Given the description of an element on the screen output the (x, y) to click on. 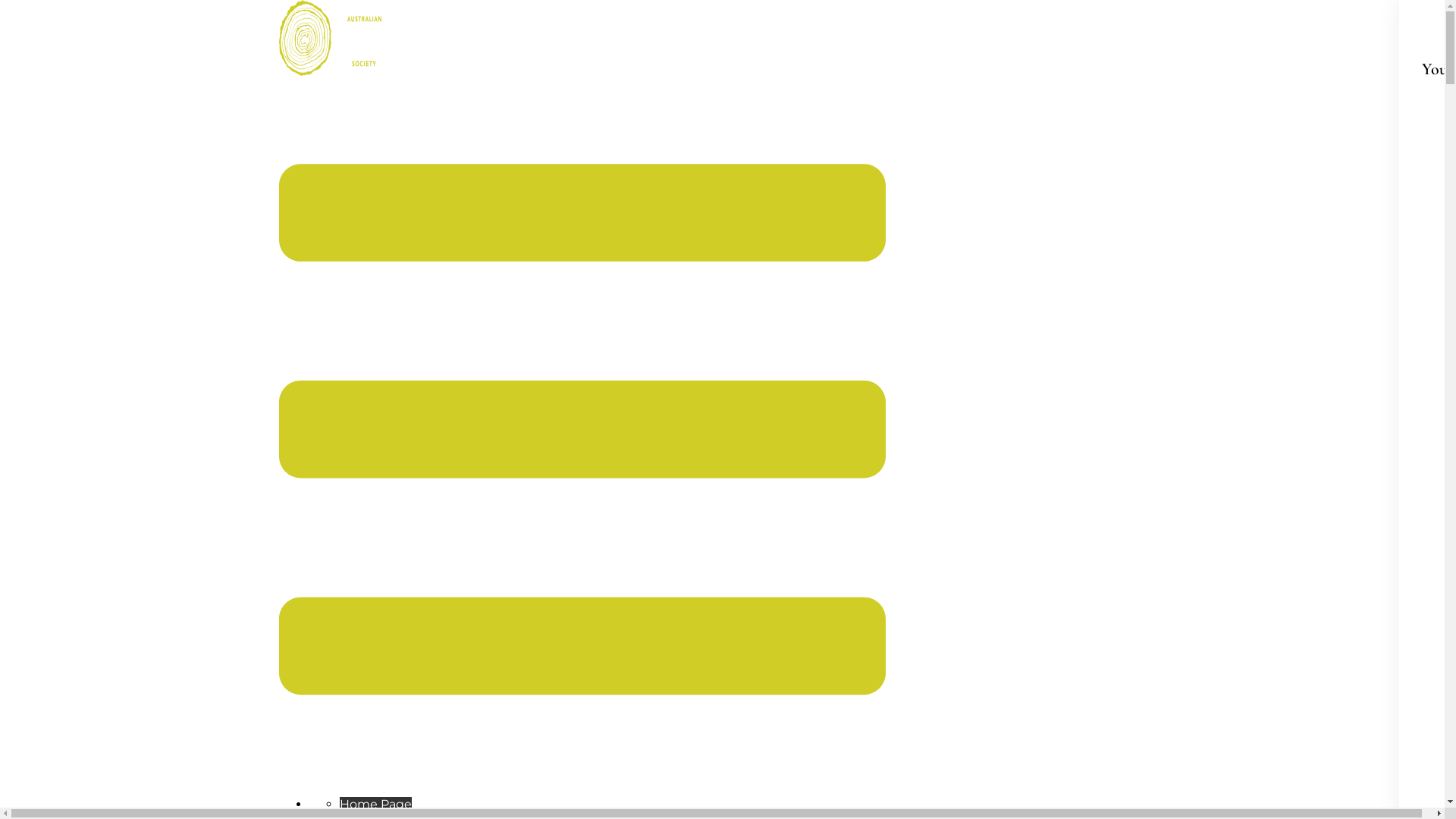
Home Page Element type: text (375, 804)
Australian Garden History Society Element type: hover (335, 71)
